Given the description of an element on the screen output the (x, y) to click on. 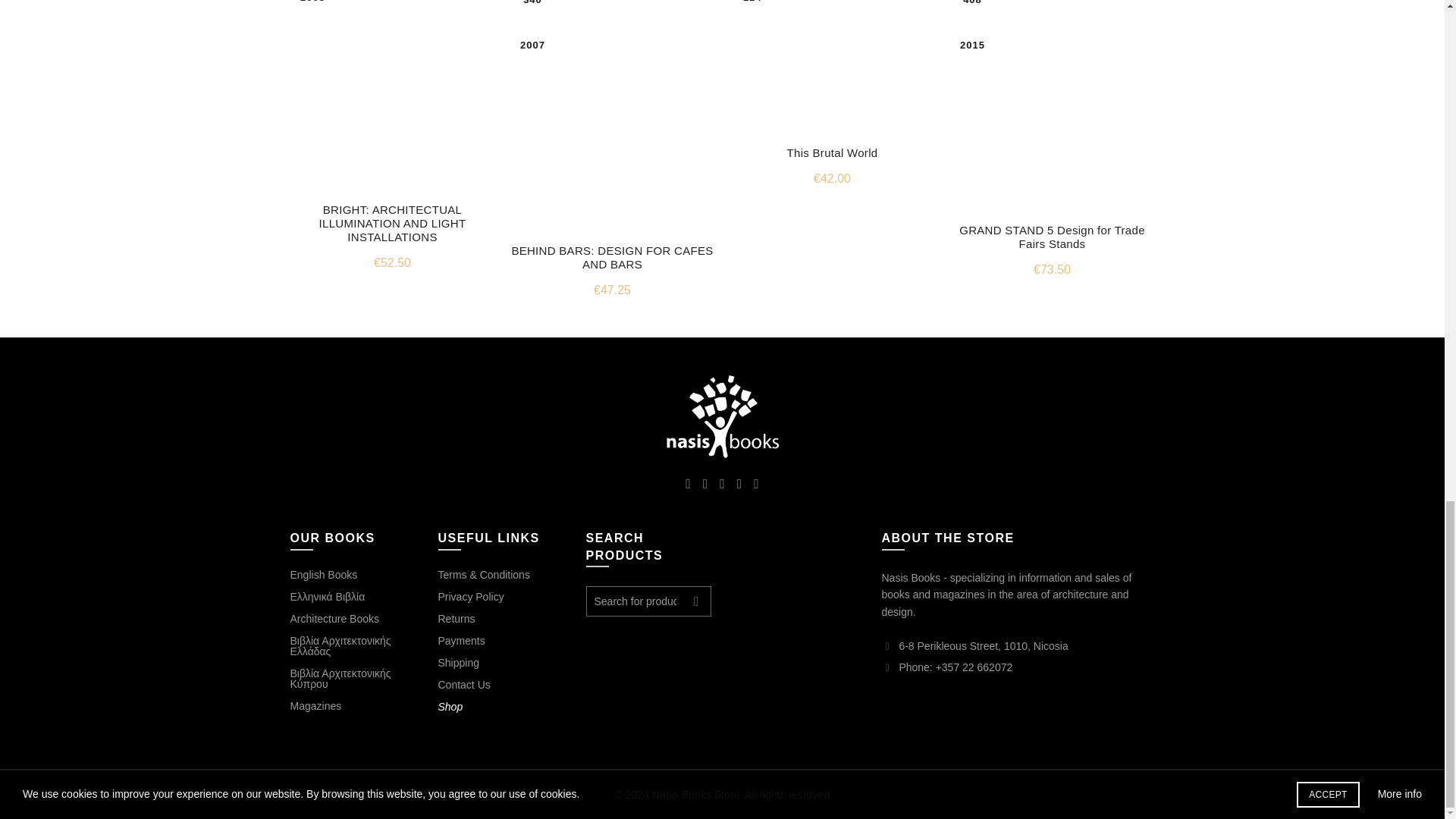
Nasis Books (721, 416)
